Given the description of an element on the screen output the (x, y) to click on. 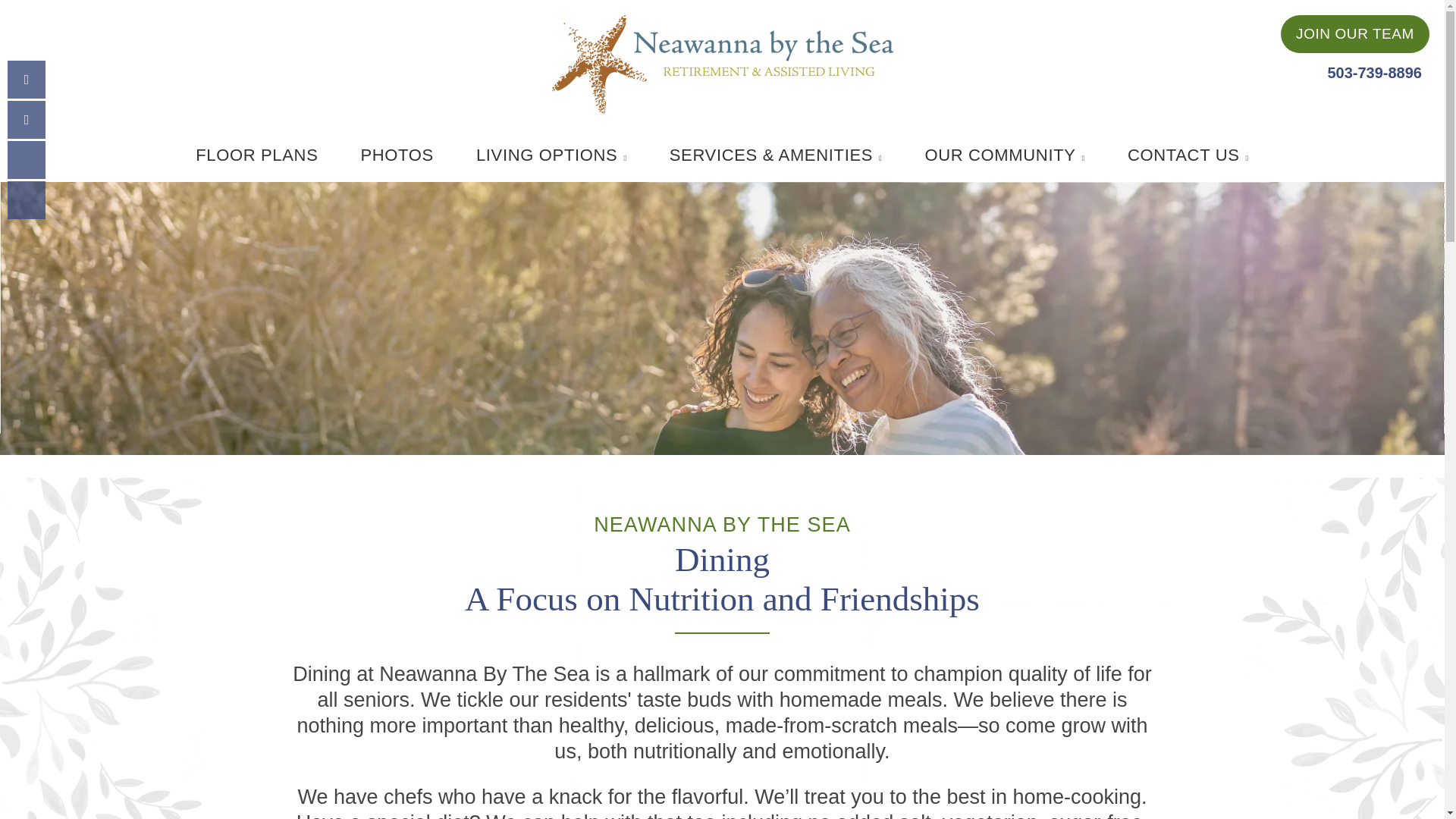
Scroll Down (26, 199)
OUR COMMUNITY (1004, 154)
Email (26, 119)
LIVING OPTIONS (550, 154)
Property Phone Number (1374, 71)
FLOOR PLANS (256, 154)
503-739-8896 (1374, 71)
Phone Number (26, 79)
JOIN OUR TEAM (1355, 34)
Scroll Up (26, 159)
CONTACT US (1187, 154)
PHOTOS (396, 154)
FINANCIAL SOLUTIONS (1004, 144)
